Given the description of an element on the screen output the (x, y) to click on. 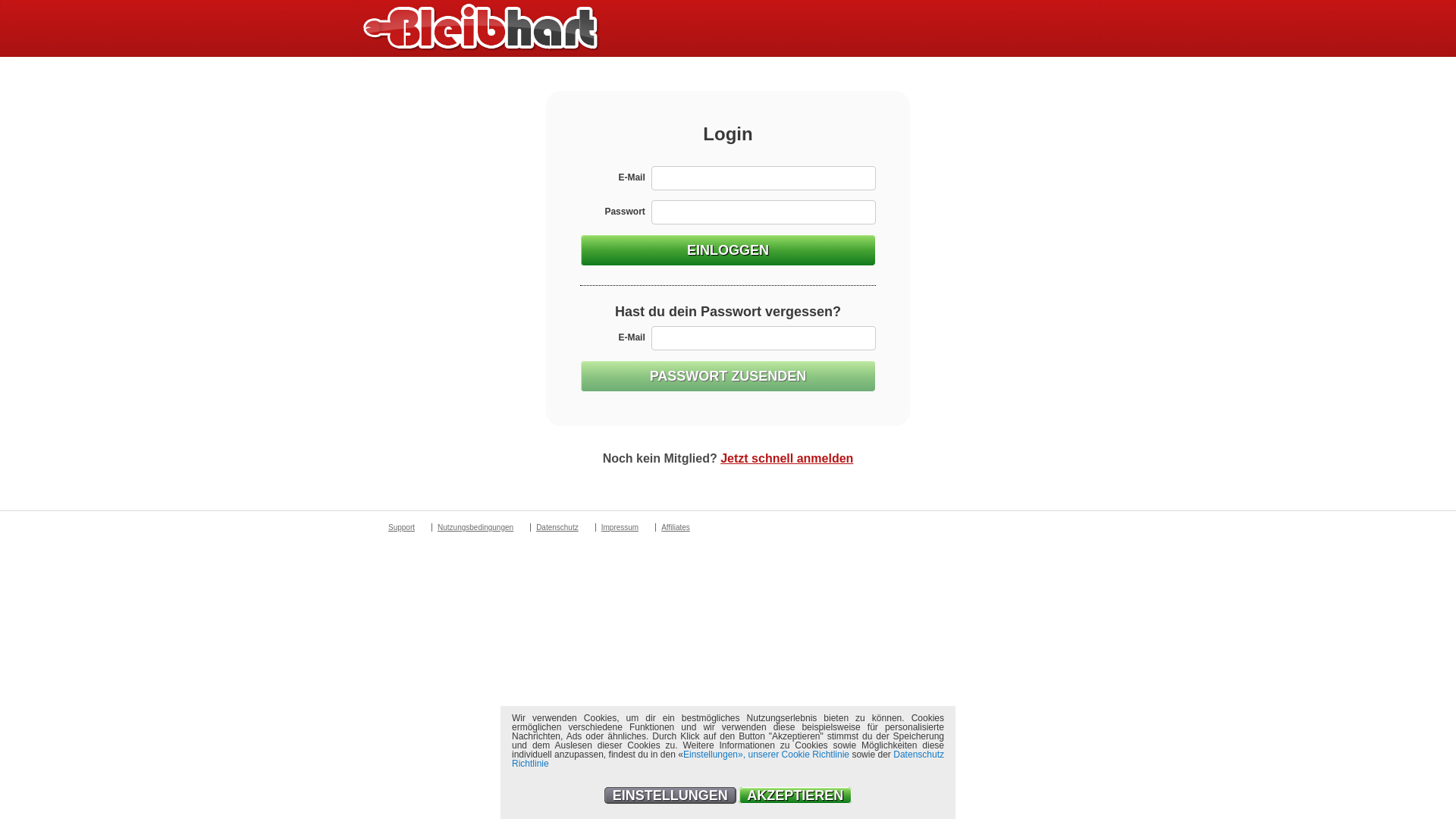
Datenschutz Richtlinie Element type: text (727, 758)
Datenschutz Element type: text (556, 527)
Cookie Richtlinie Element type: text (815, 754)
Affiliates Element type: text (675, 527)
Impressum Element type: text (619, 527)
Support Element type: text (401, 527)
EINSTELLUNGEN Element type: text (670, 795)
Einloggen Element type: text (727, 250)
Nutzungsbedingungen Element type: text (474, 527)
Jetzt schnell anmelden Element type: text (786, 457)
Einstellungen Element type: text (710, 754)
AKZEPTIEREN Element type: text (794, 795)
Passwort zusenden Element type: text (727, 376)
